Given the description of an element on the screen output the (x, y) to click on. 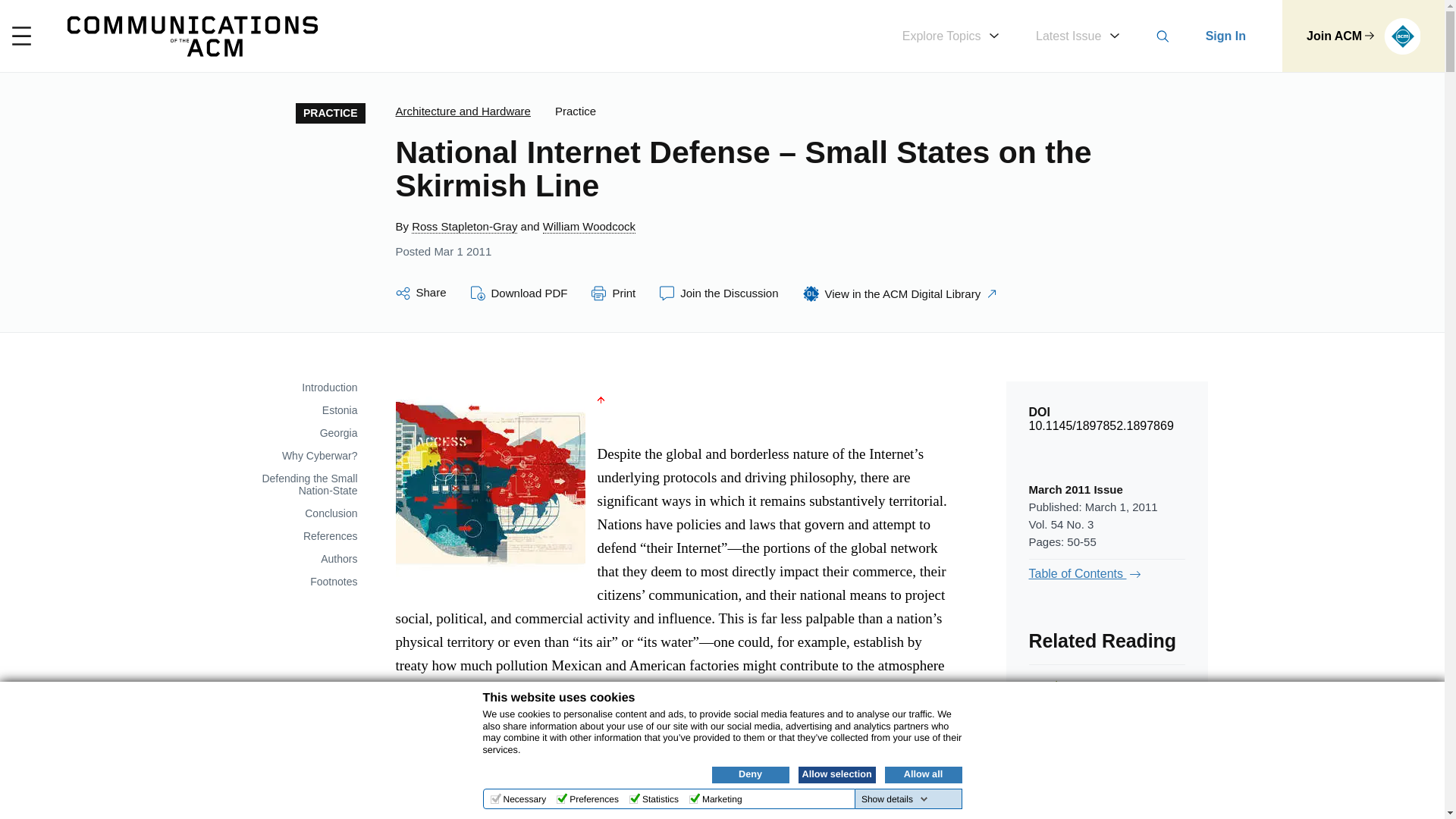
Allow selection (836, 774)
Deny (750, 774)
Show details (895, 799)
Allow all (921, 774)
